Given the description of an element on the screen output the (x, y) to click on. 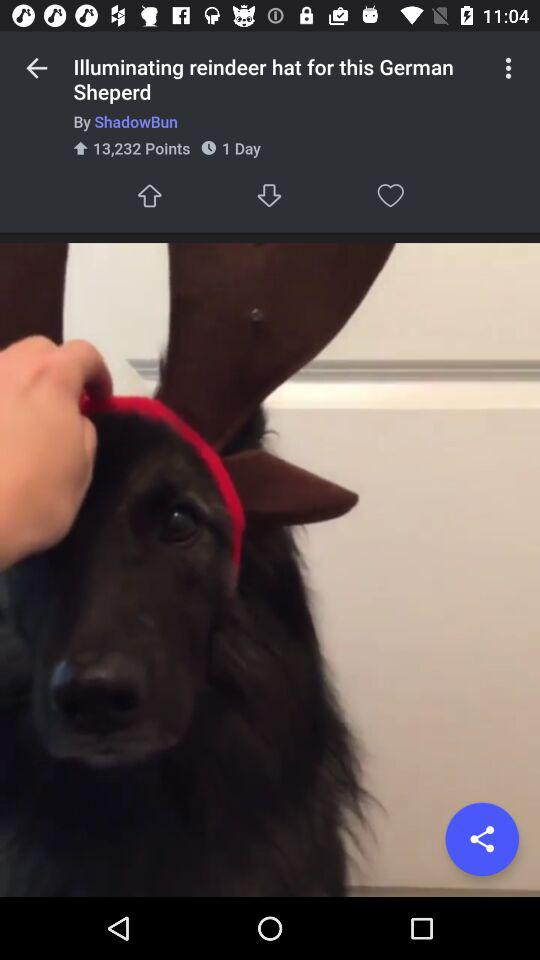
click item below the by shadowbun (482, 839)
